Given the description of an element on the screen output the (x, y) to click on. 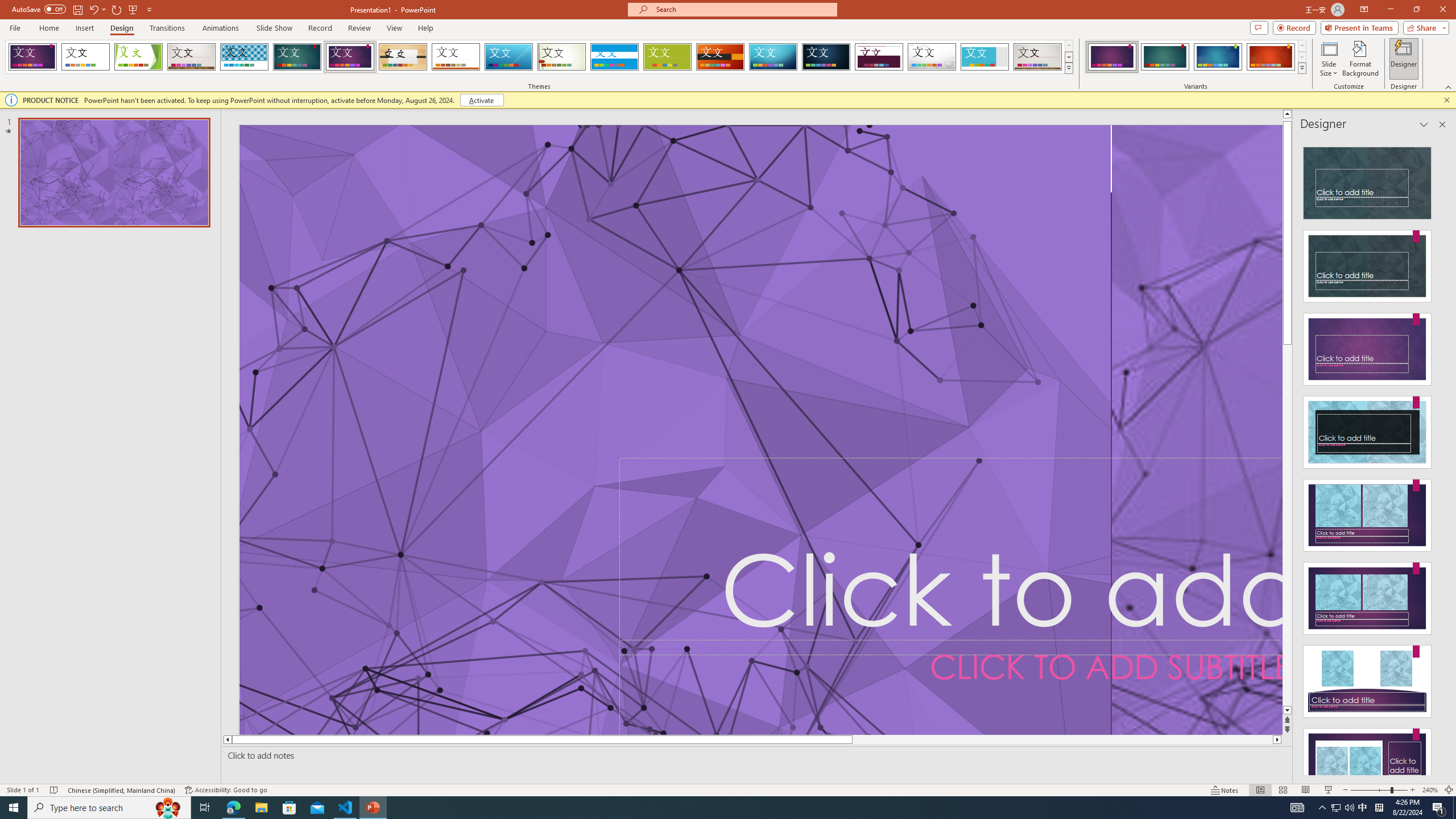
Ion Boardroom Variant 2 (1164, 56)
Variants (1301, 67)
Slide Size (1328, 58)
Gallery (1037, 56)
Ion Boardroom Variant 3 (1217, 56)
Dividend (879, 56)
